Given the description of an element on the screen output the (x, y) to click on. 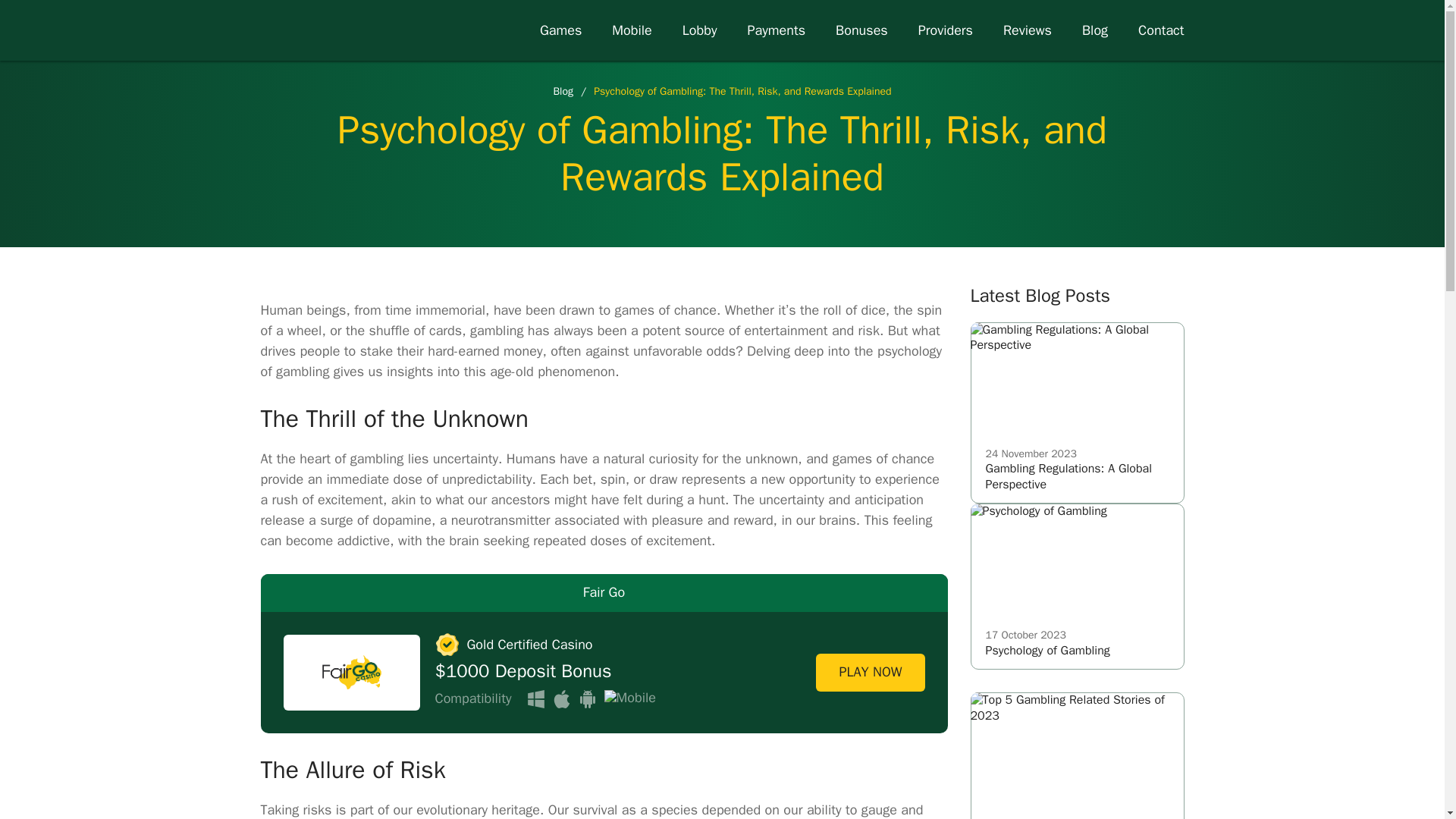
Mobile (629, 699)
Payments (775, 30)
Windows (1078, 413)
fair.go (534, 699)
Bonuses (1078, 586)
Mobile (313, 30)
Providers (861, 30)
Blog (630, 30)
